Given the description of an element on the screen output the (x, y) to click on. 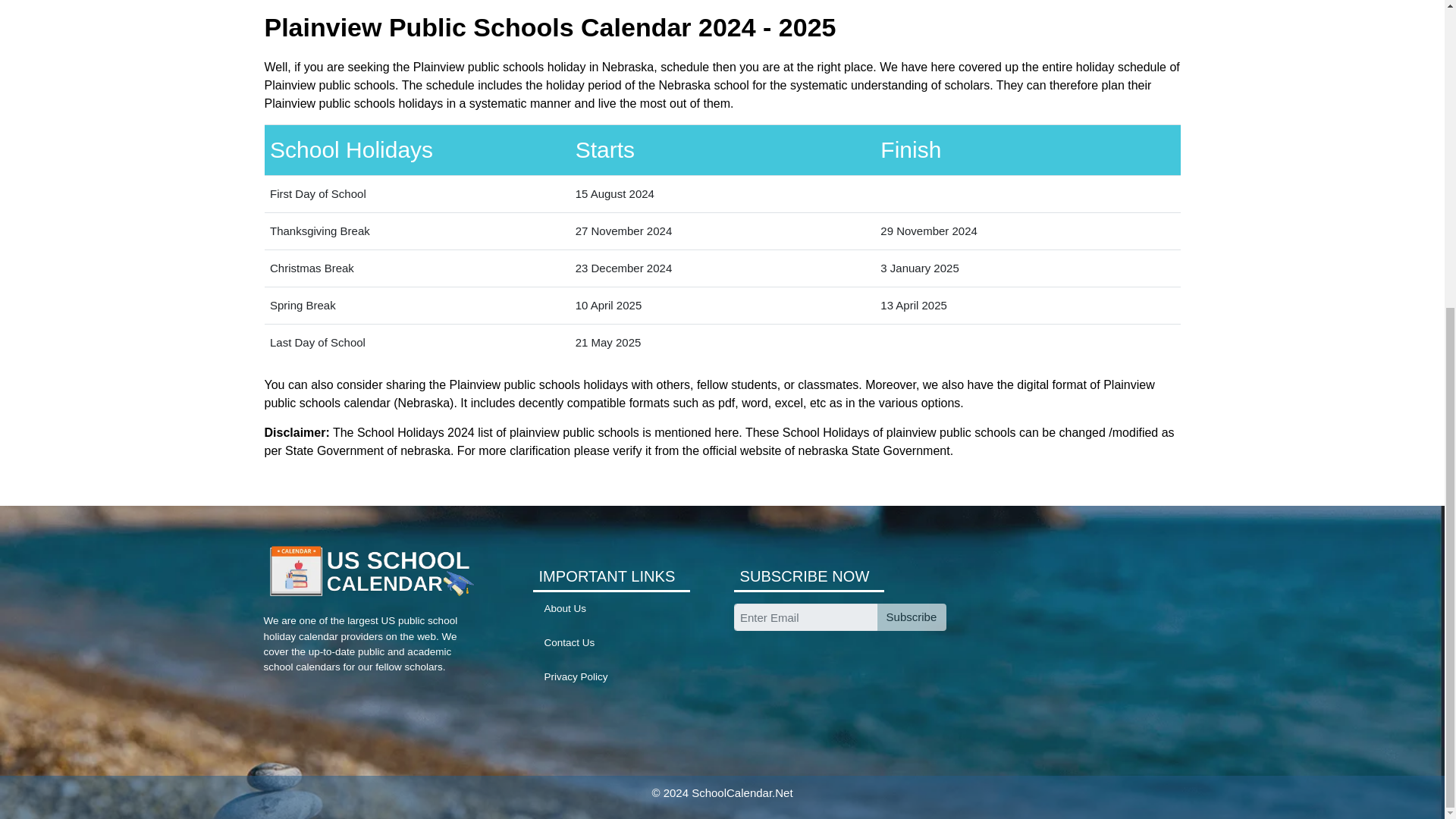
Contact Us (569, 642)
About Us (565, 608)
Subscribe (910, 616)
Privacy Policy (576, 676)
